Given the description of an element on the screen output the (x, y) to click on. 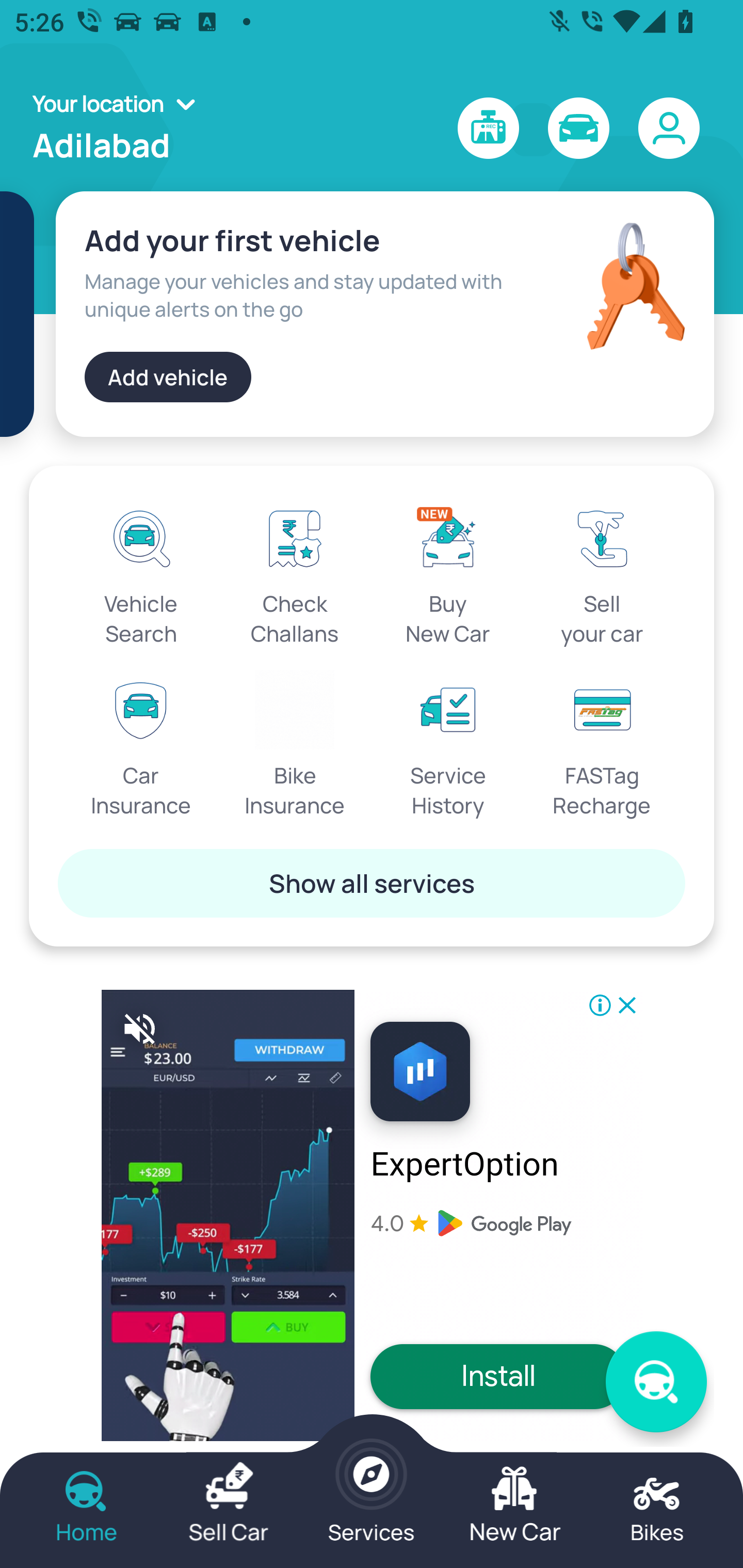
Your location Adilabad (119, 128)
Add vehicle (167, 376)
Vehicle
Search (141, 572)
Check
Challans (294, 572)
Buy
New Car (447, 572)
Sell
your car (601, 572)
Car
Insurance (141, 744)
Bike
Insurance (294, 744)
Service
History (447, 744)
FASTag Recharge (601, 744)
Show all services (371, 882)
Install (498, 1376)
